Given the description of an element on the screen output the (x, y) to click on. 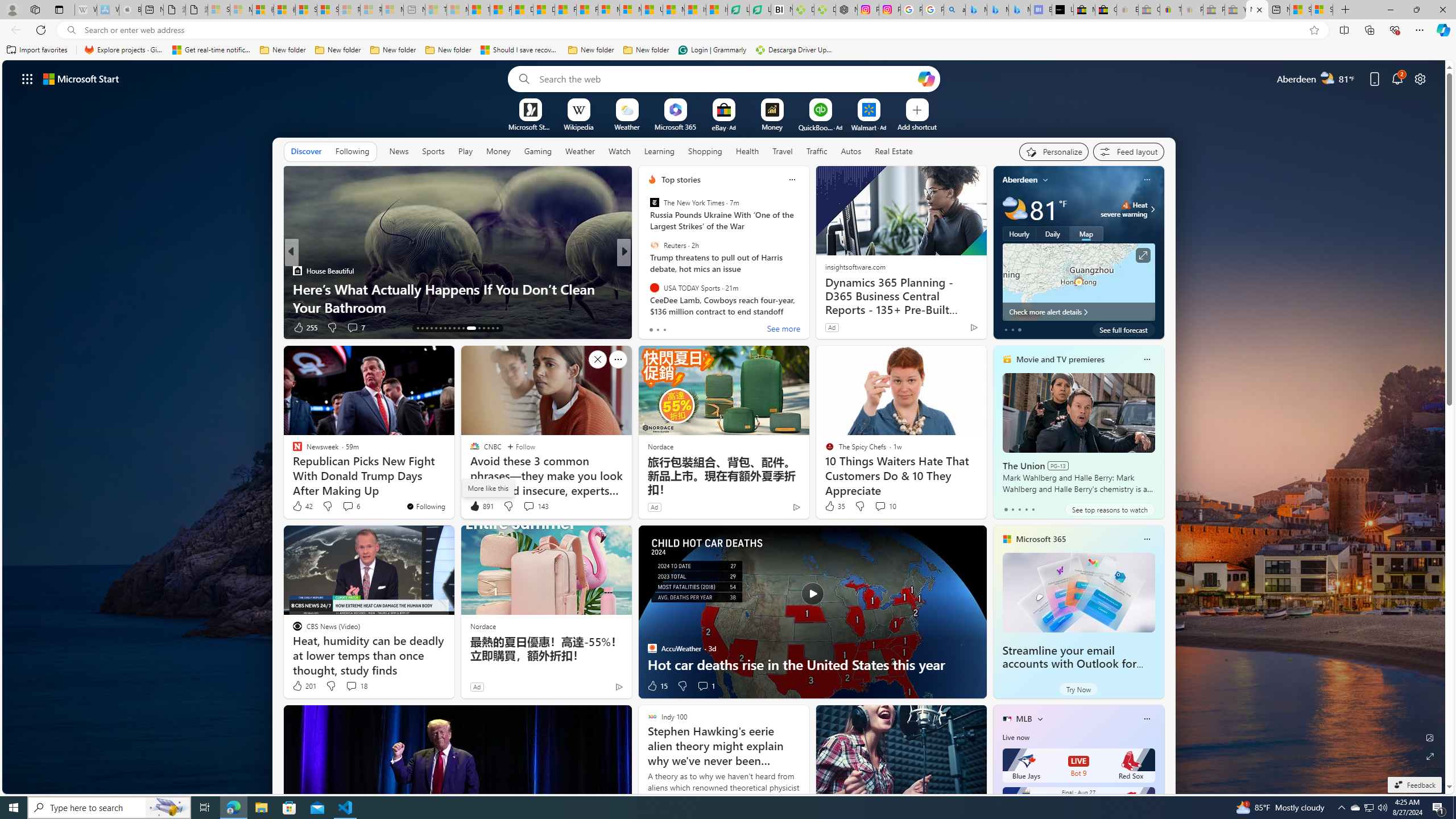
AutomationID: tab-25 (478, 328)
See top reasons to watch (1109, 509)
View comments 143 Comment (528, 505)
Feed settings (1128, 151)
Partly cloudy (1014, 208)
Blue Jays LIVE Bot 9 Red Sox (1077, 765)
